Given the description of an element on the screen output the (x, y) to click on. 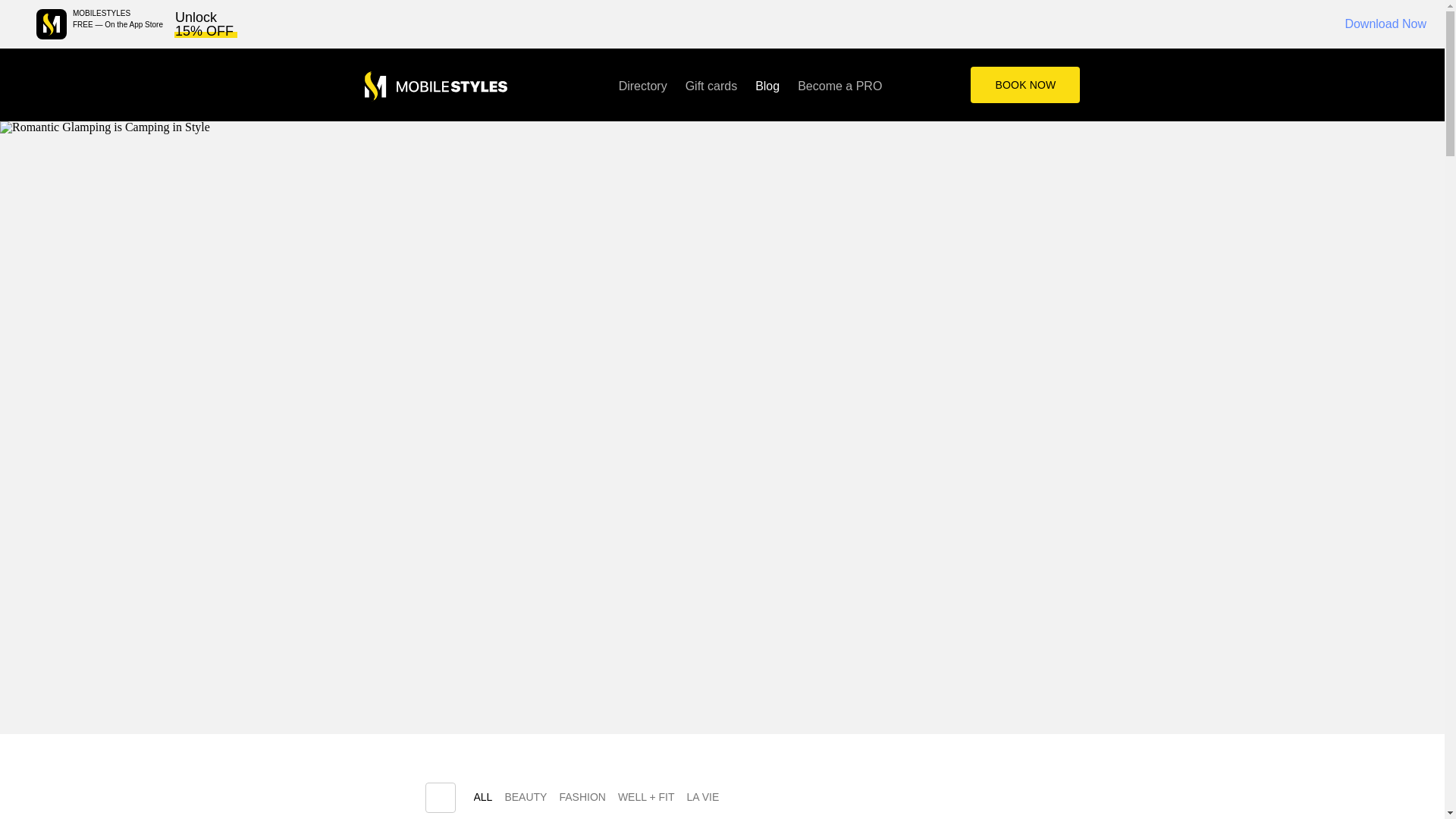
All blogs (482, 801)
Purchase a gift card (710, 84)
Go Home (435, 86)
Blogs beauty category (525, 801)
Download MOBILESTYLES APP Now (51, 24)
BEAUTY (525, 801)
Book a mobile service (1025, 84)
Blog (766, 84)
Read our blogs (766, 84)
FASHION (582, 801)
